Given the description of an element on the screen output the (x, y) to click on. 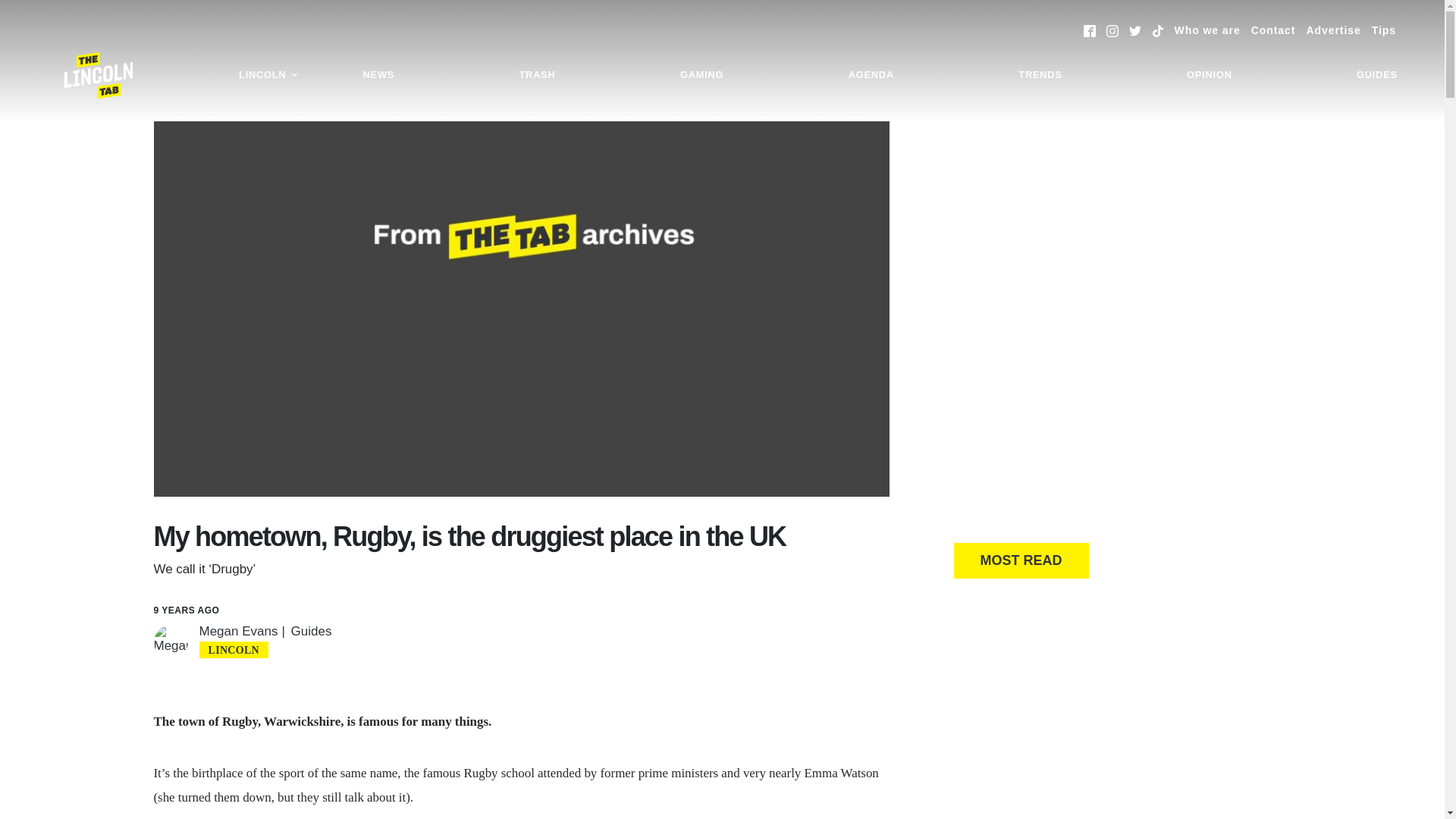
LINCOLN (268, 75)
NEWS (379, 75)
Advertise (1332, 29)
TRENDS (1040, 75)
GAMING (701, 75)
GUIDES (1377, 75)
OPINION (1208, 75)
Who we are (1207, 29)
AGENDA (871, 75)
TRASH (536, 75)
Contact (1272, 29)
Tips (1383, 29)
